Given the description of an element on the screen output the (x, y) to click on. 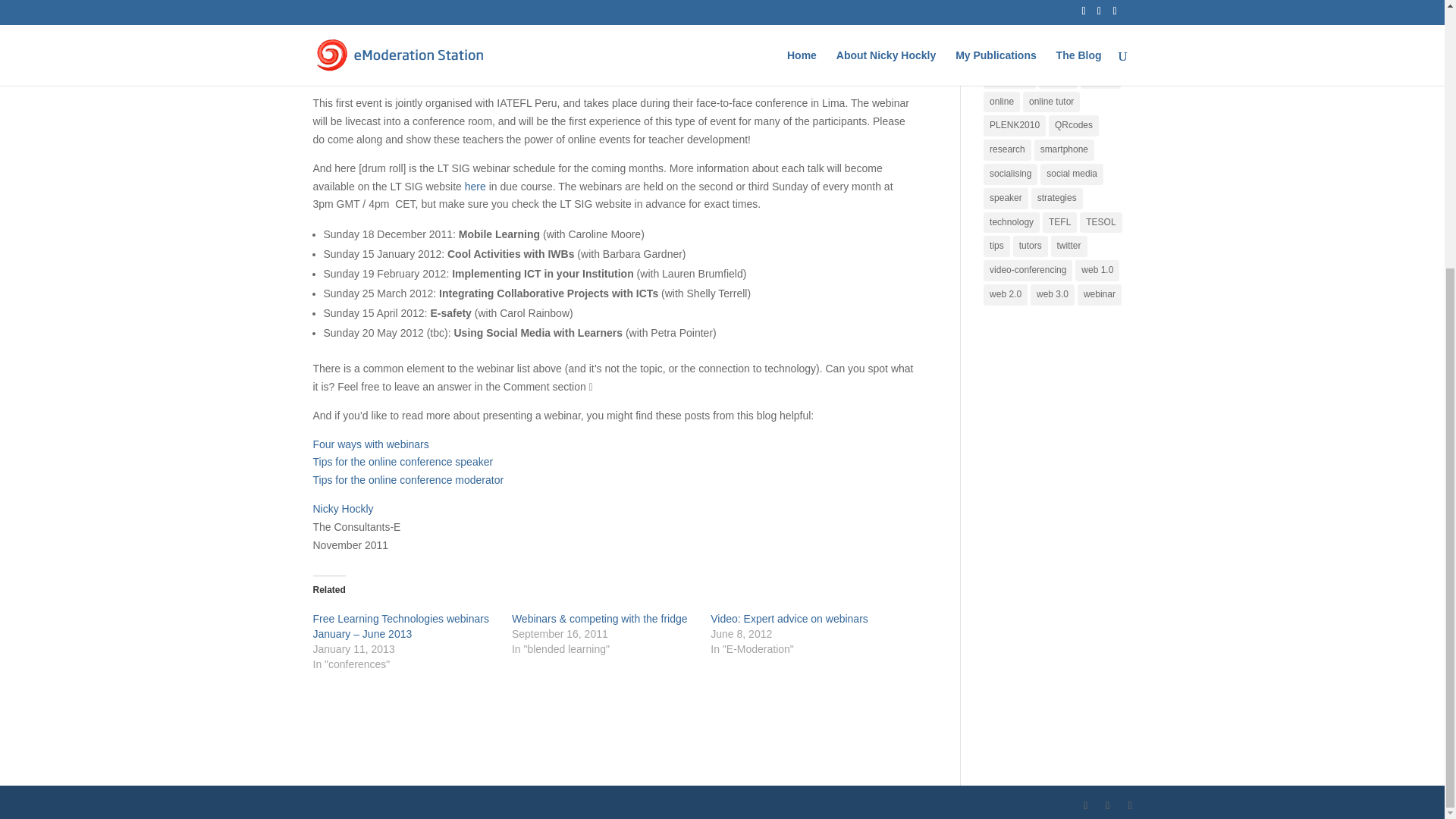
Tips for the online conference speaker (403, 461)
Tips for the online conference moderator (408, 480)
Four ways with webinars (370, 444)
Video: Expert advice on webinars (788, 618)
Nicky Hockly (342, 508)
here (476, 186)
website (759, 9)
Video: Expert advice on webinars (788, 618)
